Given the description of an element on the screen output the (x, y) to click on. 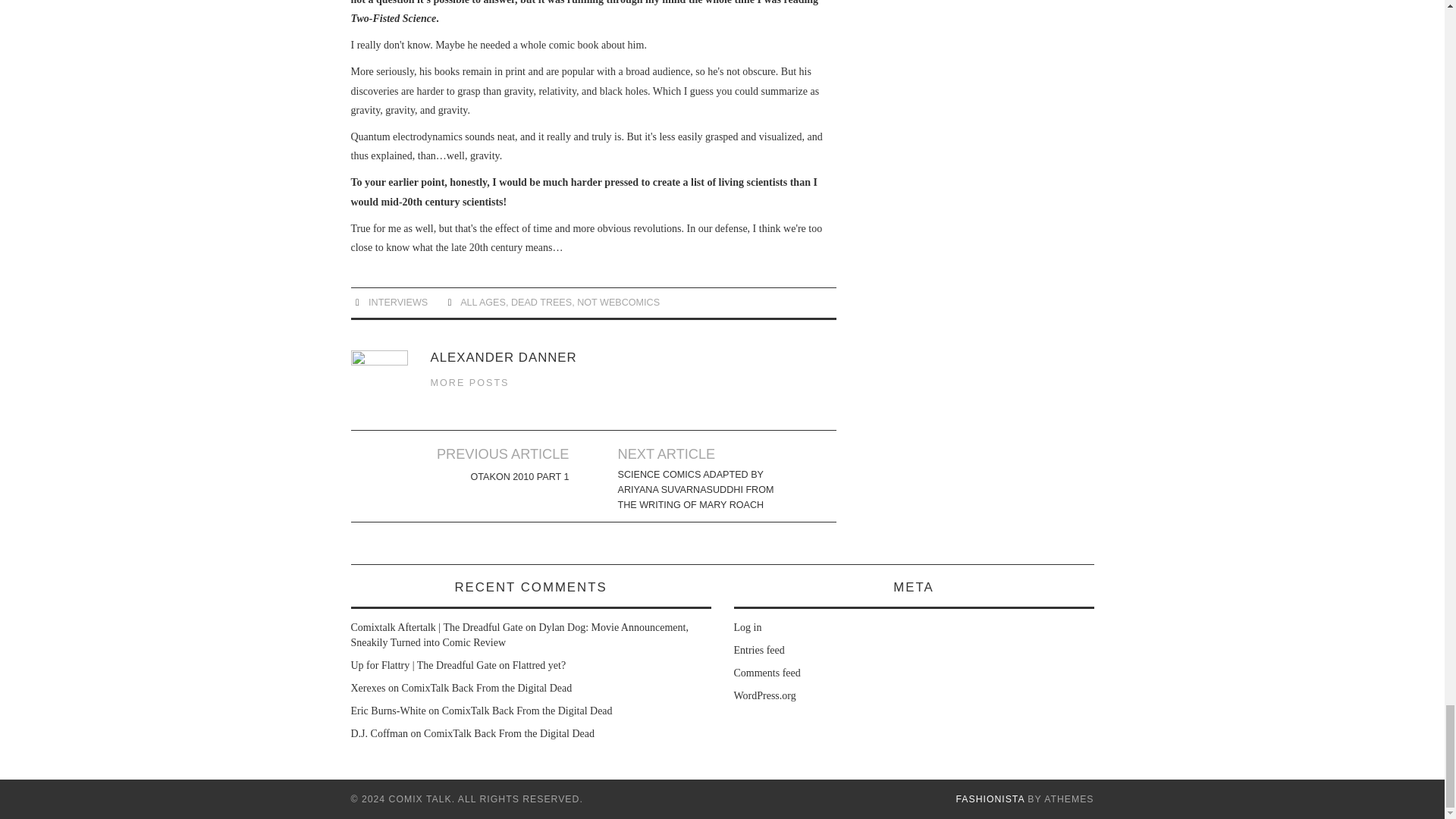
NOT WEBCOMICS (617, 302)
OTAKON 2010 PART 1 (519, 476)
MORE POSTS (469, 382)
DEAD TREES (541, 302)
ALL AGES (482, 302)
INTERVIEWS (398, 302)
